Given the description of an element on the screen output the (x, y) to click on. 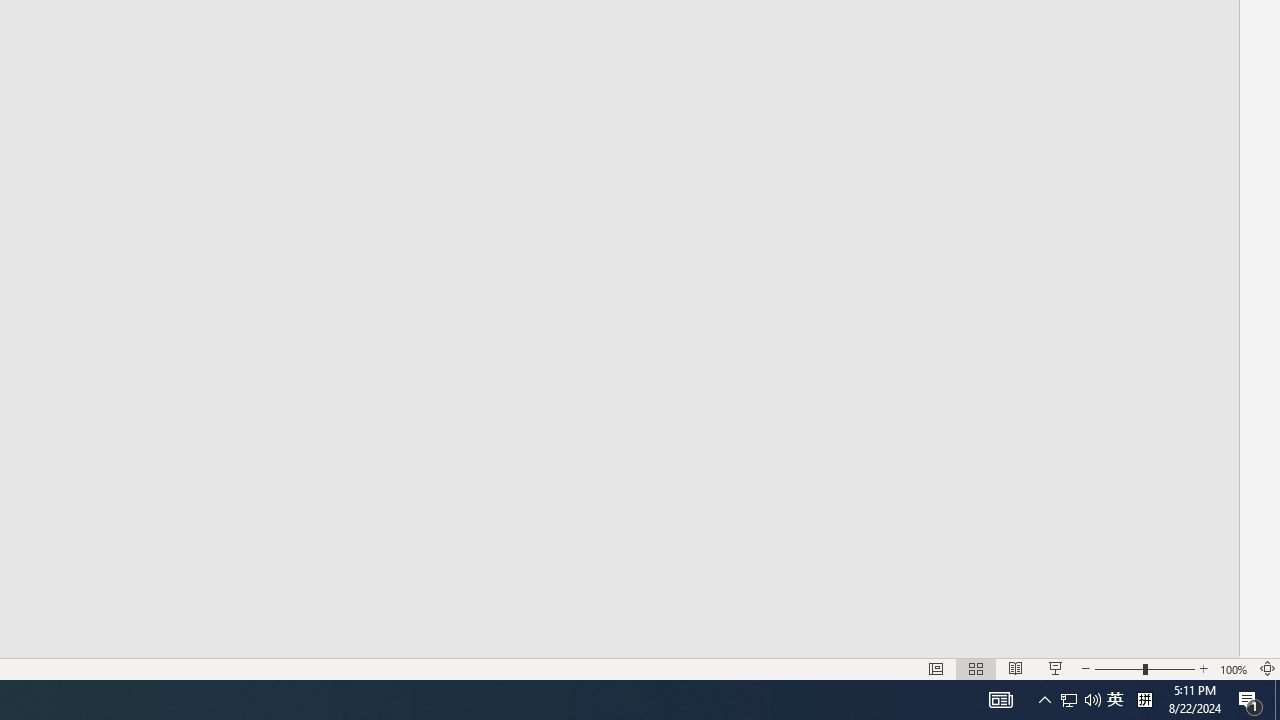
Zoom 100% (1234, 668)
